Given the description of an element on the screen output the (x, y) to click on. 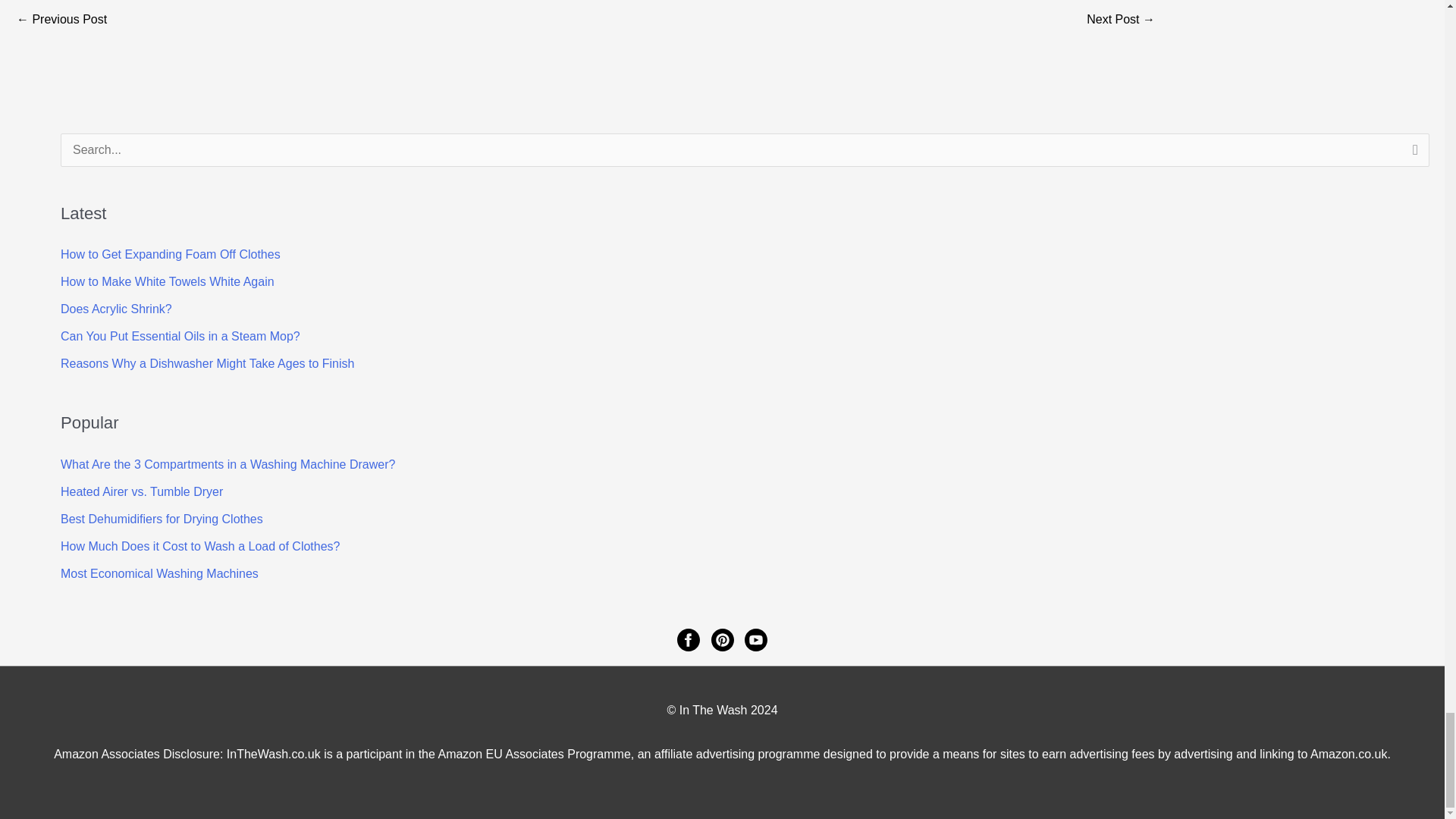
Why Is There Mould on My Furniture But Not on the Walls? (61, 20)
How to Dry Something That Can't Be Tumble Dried (1120, 20)
How to Make White Towels White Again (168, 281)
How to Get Expanding Foam Off Clothes (171, 254)
